Given the description of an element on the screen output the (x, y) to click on. 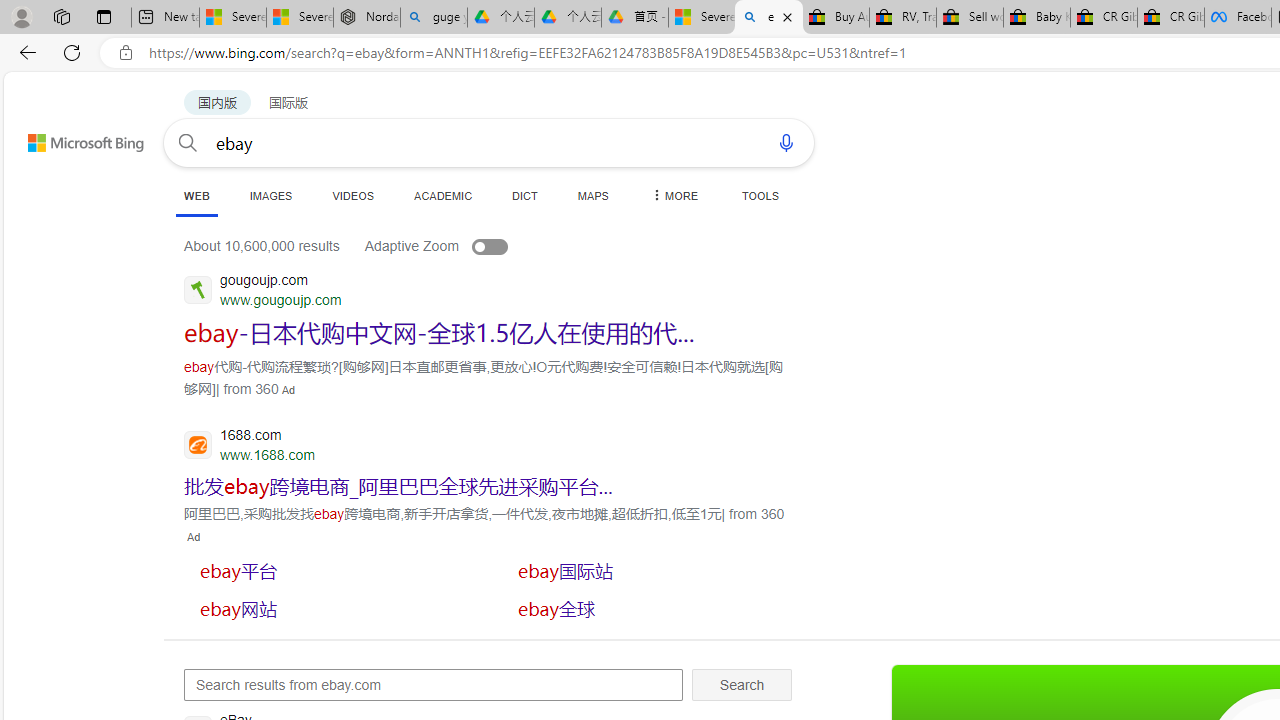
VIDEOS (352, 195)
IMAGES (270, 195)
guge yunpan - Search (433, 17)
SERP,5712 (333, 570)
Dropdown Menu (673, 195)
WEB (196, 196)
IMAGES (270, 195)
SERP,5710 (398, 485)
